Given the description of an element on the screen output the (x, y) to click on. 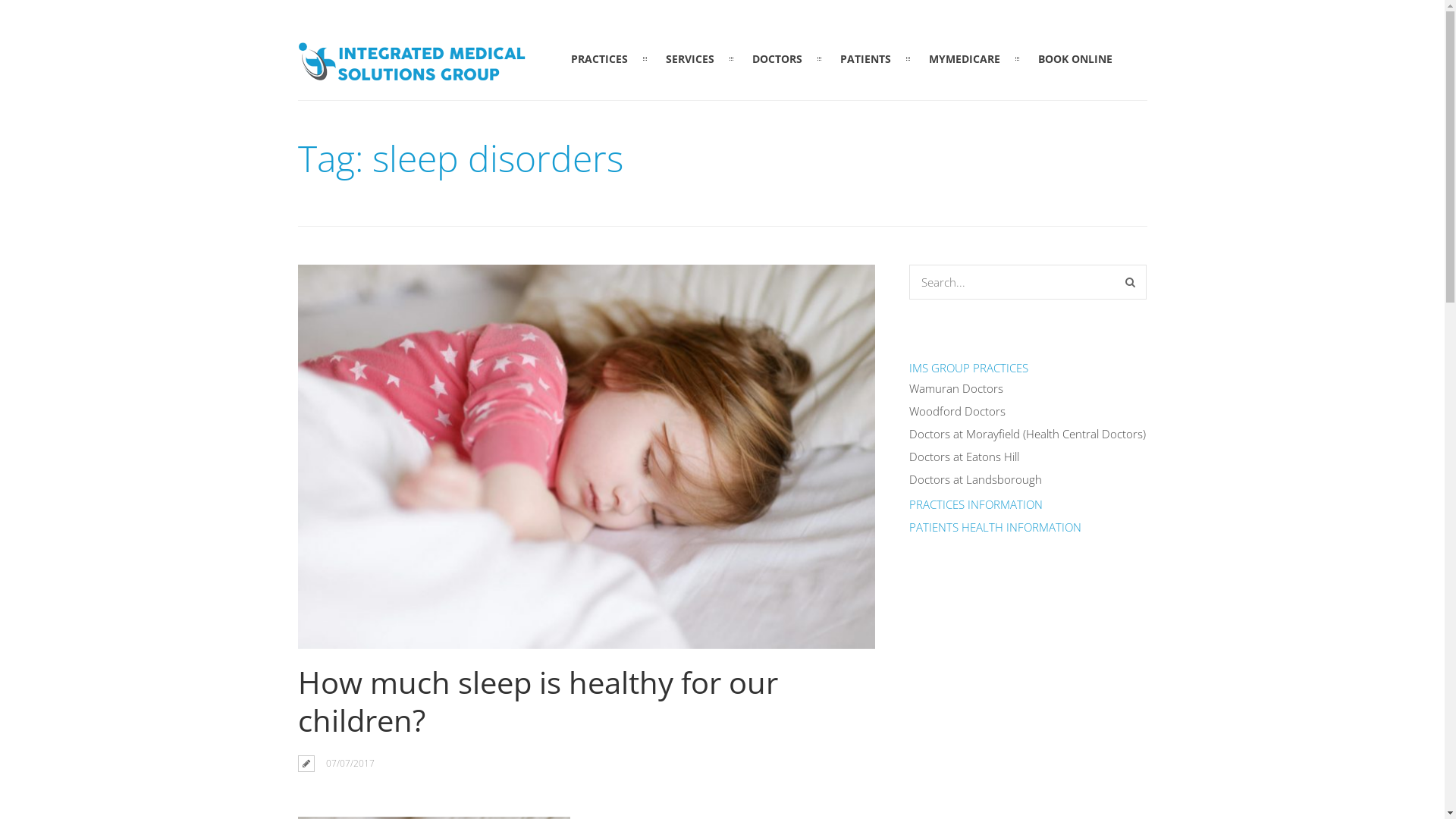
Doctors at Morayfield (Health Central Doctors) Element type: text (1027, 433)
PATIENTS Element type: text (865, 58)
PRACTICES INFORMATION Element type: text (975, 503)
PATIENTS HEALTH INFORMATION Element type: text (995, 526)
IMS GROUP PRACTICES Element type: text (968, 367)
How much sleep is healthy for our children? Element type: text (537, 700)
PRACTICES Element type: text (599, 58)
IMSG Element type: hover (410, 71)
MYMEDICARE Element type: text (964, 58)
Search Element type: text (1129, 281)
Doctors at Eatons Hill Element type: text (964, 456)
Doctors at Landsborough Element type: text (975, 478)
BOOK ONLINE Element type: text (1074, 58)
SERVICES Element type: text (689, 58)
Woodford Doctors Element type: text (957, 410)
Wamuran Doctors Element type: text (956, 387)
DOCTORS Element type: text (776, 58)
